Given the description of an element on the screen output the (x, y) to click on. 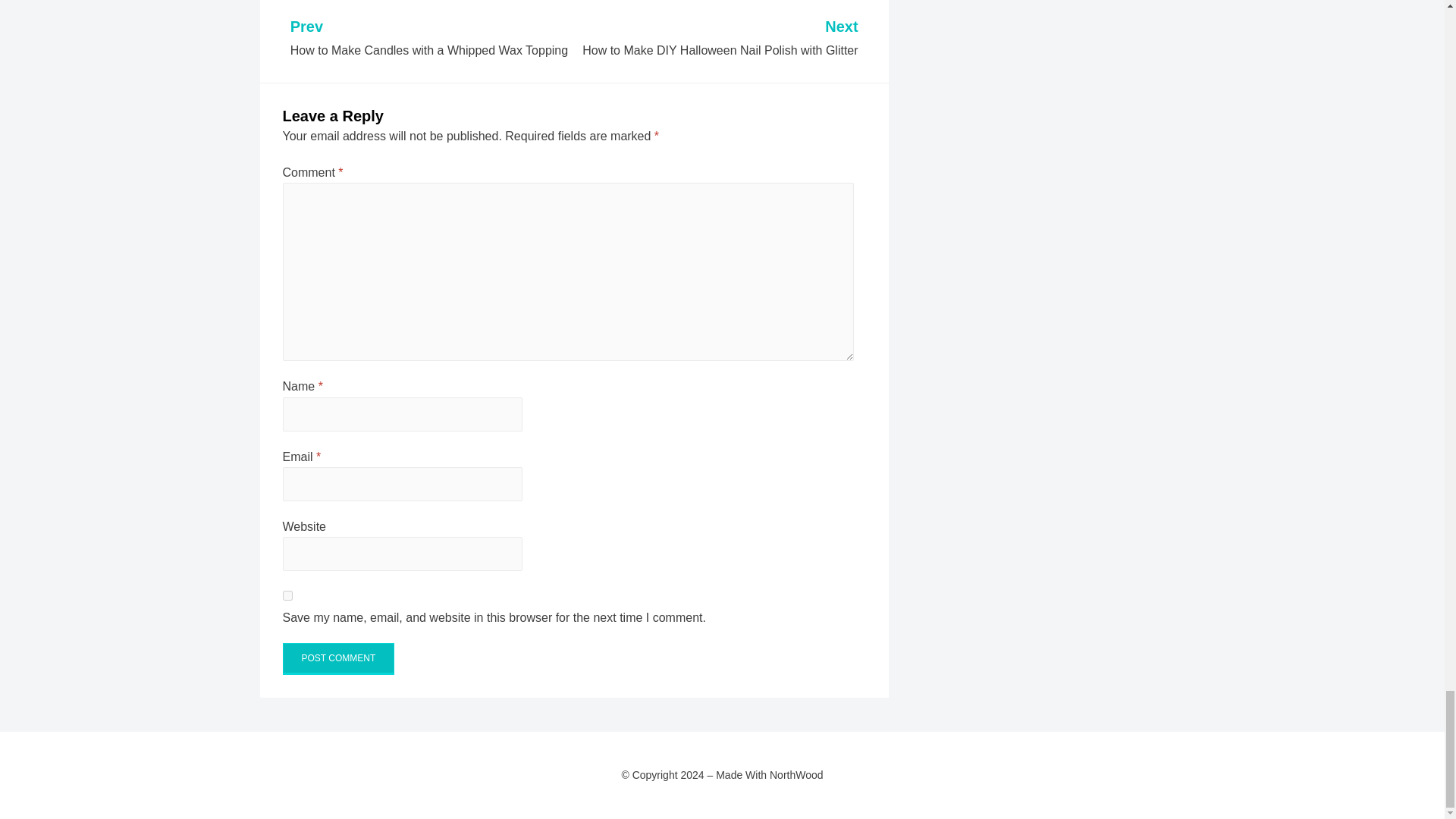
WordPress (469, 796)
Post Comment (338, 658)
TemplateLens (358, 796)
Post Comment (429, 38)
yes (338, 658)
